Given the description of an element on the screen output the (x, y) to click on. 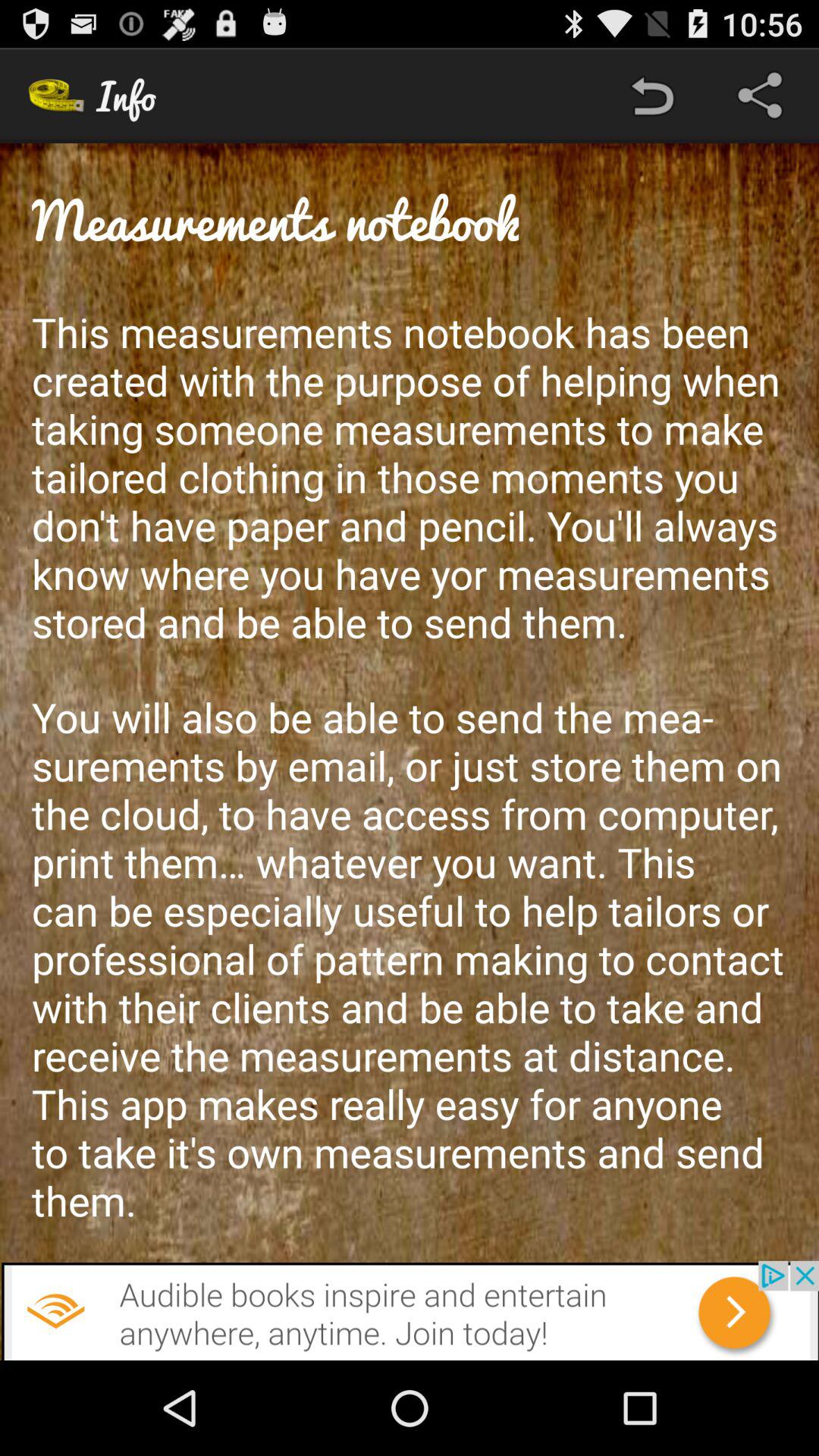
open advertisement (409, 1310)
